Given the description of an element on the screen output the (x, y) to click on. 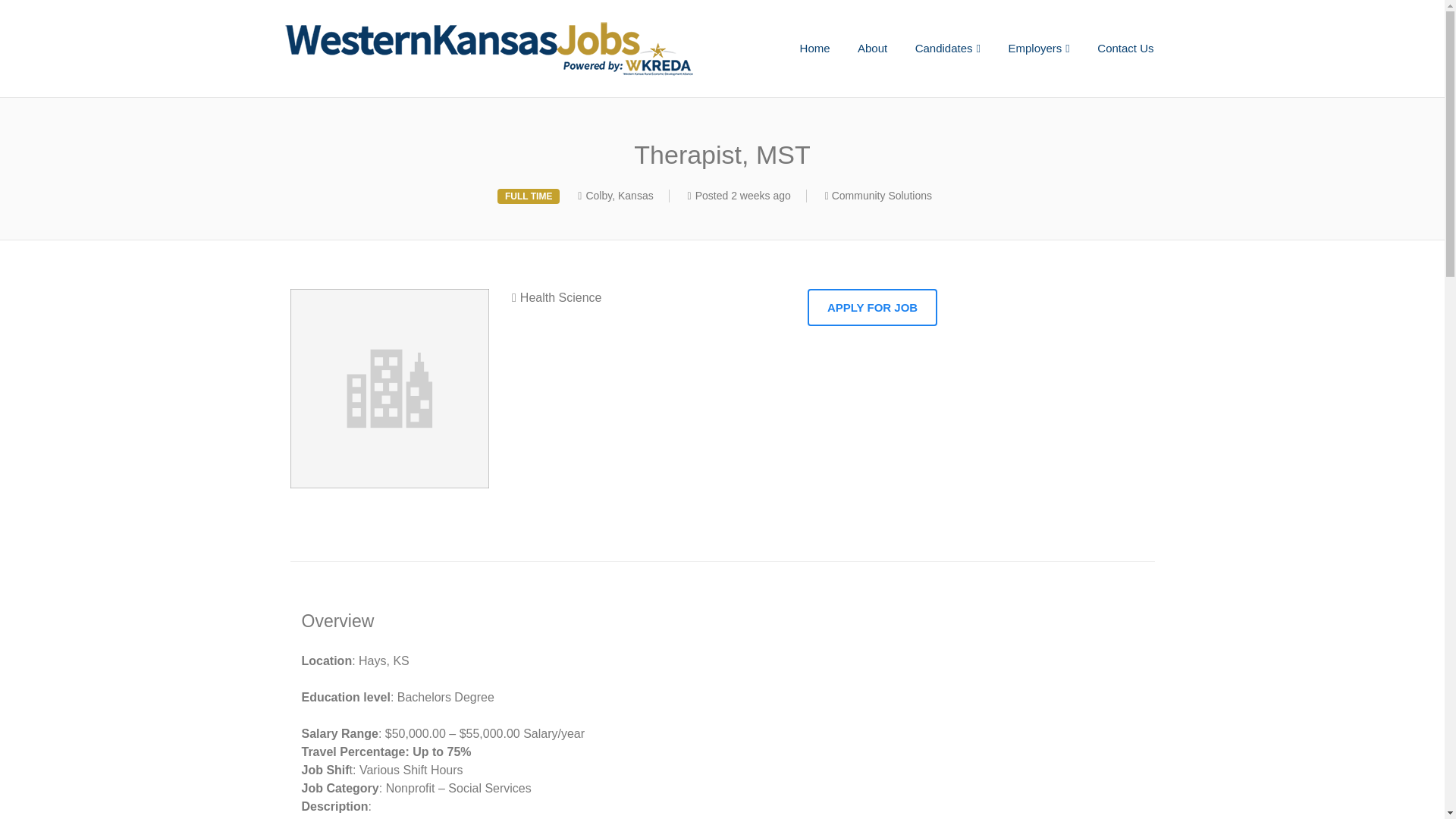
Colby, Kansas (618, 195)
APPLY FOR JOB (872, 307)
WESTERN KANSAS JOBS (518, 48)
Health Science (556, 297)
Candidates (947, 48)
Home (815, 48)
Employers (1038, 48)
Community Solutions (881, 195)
Western Kansas Jobs (518, 48)
About (872, 48)
Contact Us (1125, 48)
